Given the description of an element on the screen output the (x, y) to click on. 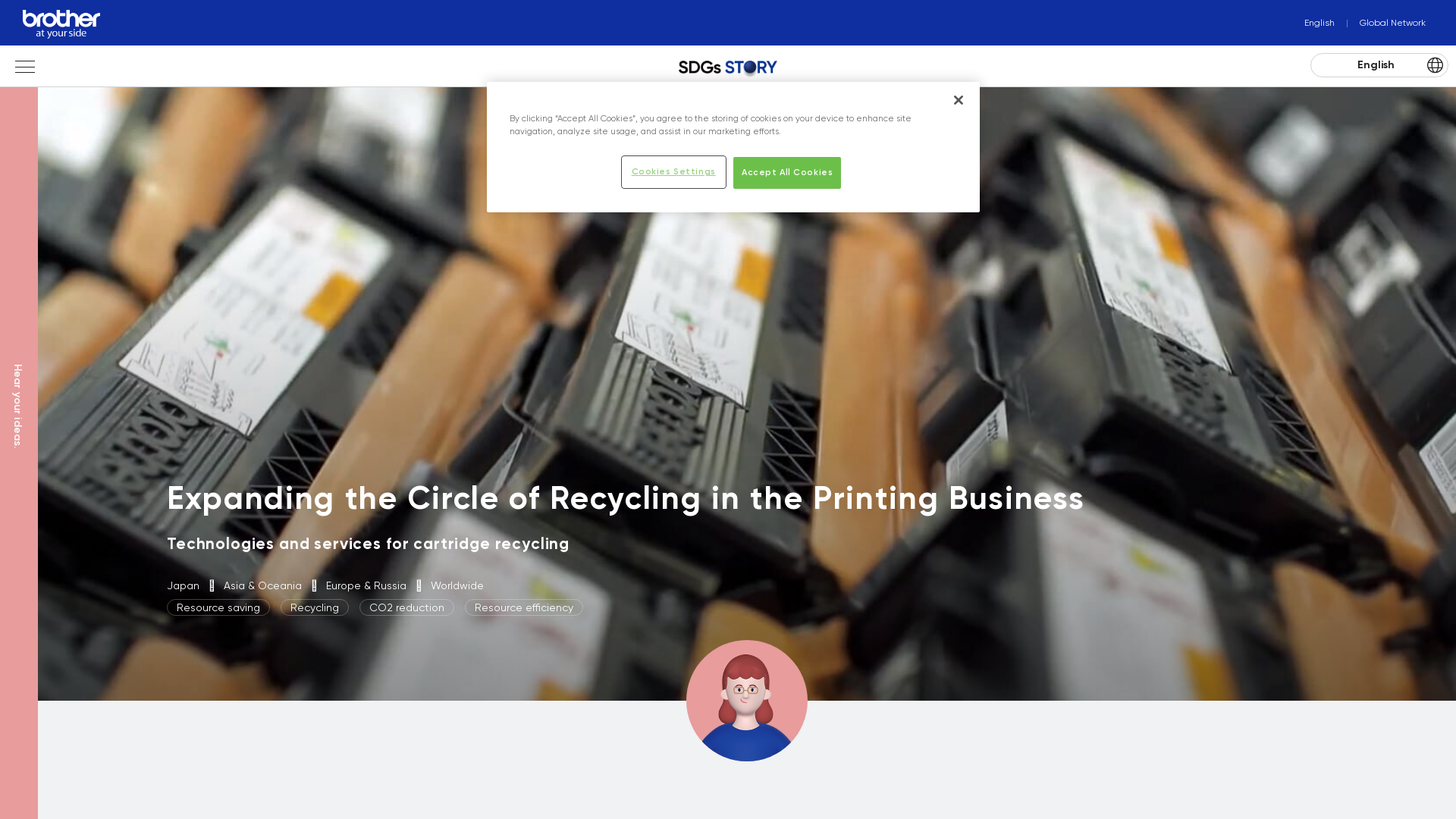
Cookies Settings Element type: text (673, 171)
Global Network Element type: text (1379, 22)
English Element type: text (1379, 65)
Worldwide Element type: text (456, 585)
CO2 reduction Element type: text (406, 607)
Japan Element type: text (184, 585)
Europe & Russia Element type: text (367, 585)
Resource saving Element type: text (217, 607)
Resource efficiency Element type: text (523, 607)
Asia & Oceania Element type: text (263, 585)
Recycling Element type: text (314, 607)
Accept All Cookies Element type: text (786, 172)
